Given the description of an element on the screen output the (x, y) to click on. 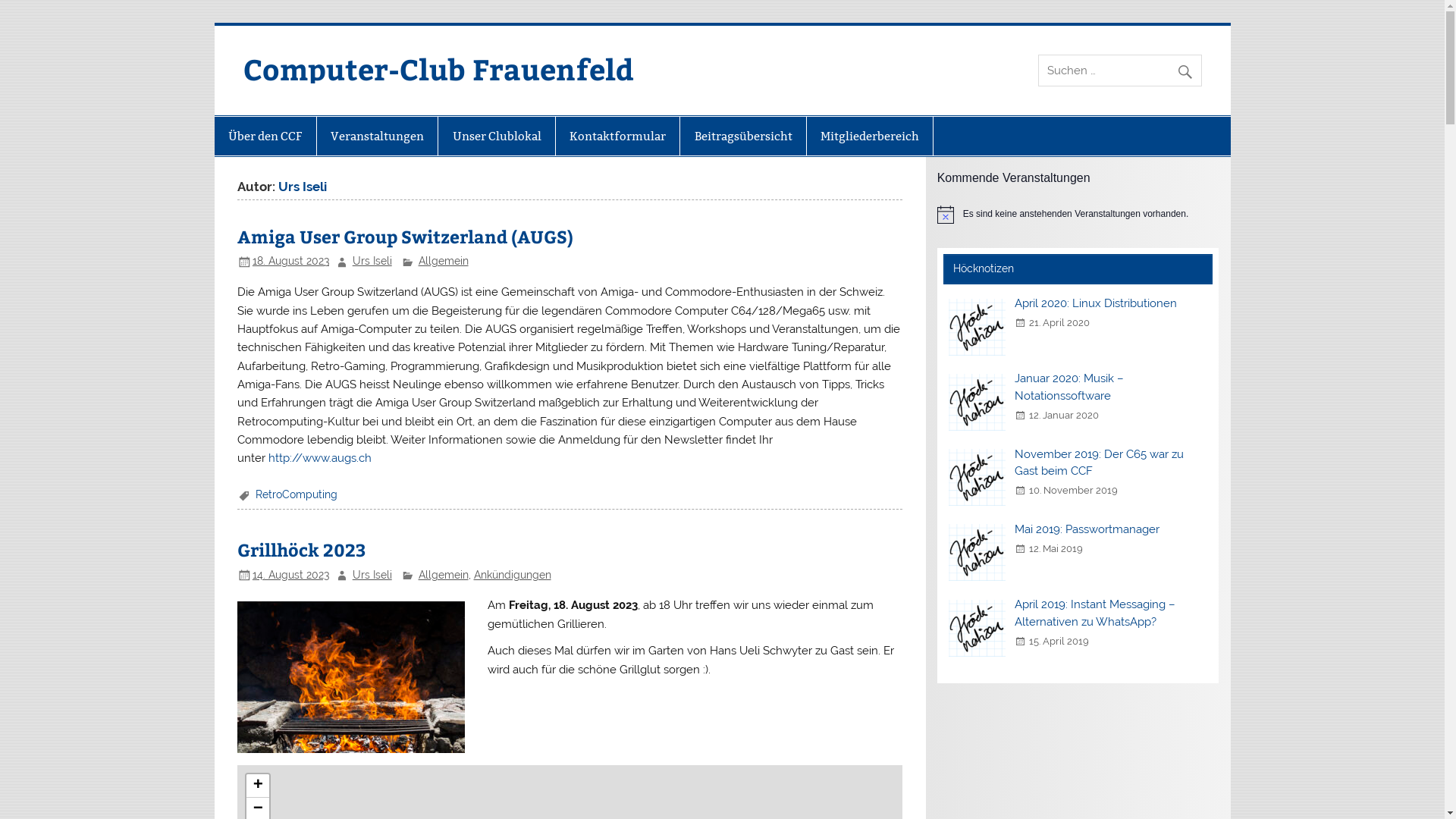
+ Element type: text (257, 785)
Mitgliederbereich Element type: text (869, 136)
Amiga User Group Switzerland (AUGS) Element type: text (405, 235)
Unser Clublokal Element type: text (496, 136)
14. August 2023 Element type: text (290, 574)
Veranstaltungen Element type: text (376, 136)
Mai 2019: Passwortmanager Element type: text (1086, 529)
April 2020: Linux Distributionen Element type: text (1095, 303)
Computer-Club Frauenfeld Element type: text (437, 68)
Urs Iseli Element type: text (372, 260)
Urs Iseli Element type: text (372, 574)
http://www.augs.ch Element type: text (319, 457)
Allgemein Element type: text (443, 574)
18. August 2023 Element type: text (290, 260)
Allgemein Element type: text (443, 260)
Kontaktformular Element type: text (617, 136)
RetroComputing Element type: text (296, 494)
November 2019: Der C65 war zu Gast beim CCF Element type: text (1098, 462)
